Given the description of an element on the screen output the (x, y) to click on. 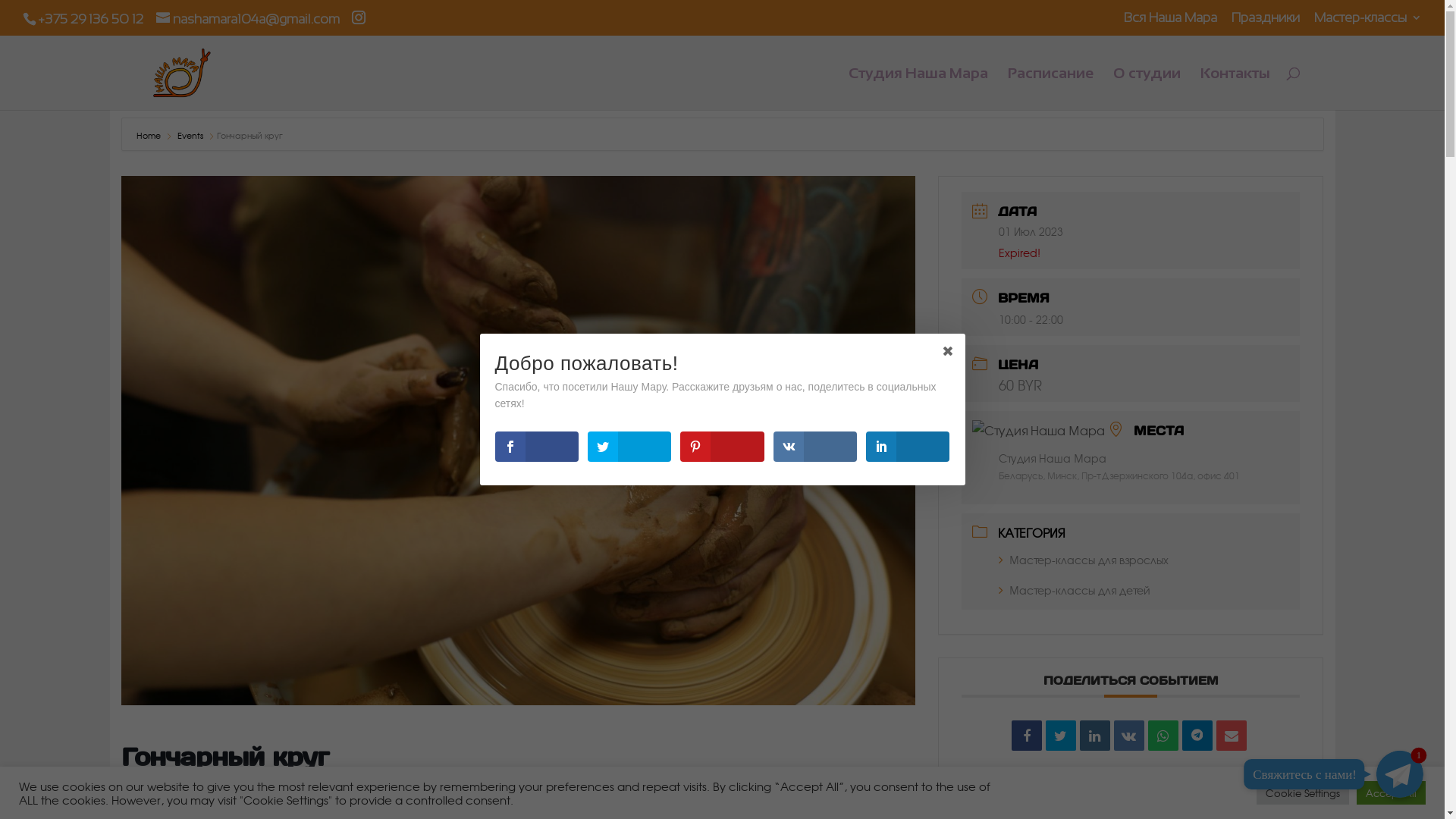
Linkedin Element type: hover (1094, 735)
Share on WhatsApp Element type: hover (1163, 735)
Facebook Element type: hover (1026, 735)
Accept All Element type: text (1390, 792)
Telegram
1 Element type: text (1399, 774)
Events Element type: text (188, 134)
Cookie Settings Element type: text (1302, 792)
Home Element type: text (148, 134)
Tweet Element type: hover (1060, 735)
VK Element type: hover (1128, 735)
Share on Telegram Element type: hover (1197, 735)
nashamara104a@gmail.com Element type: text (247, 17)
